Given the description of an element on the screen output the (x, y) to click on. 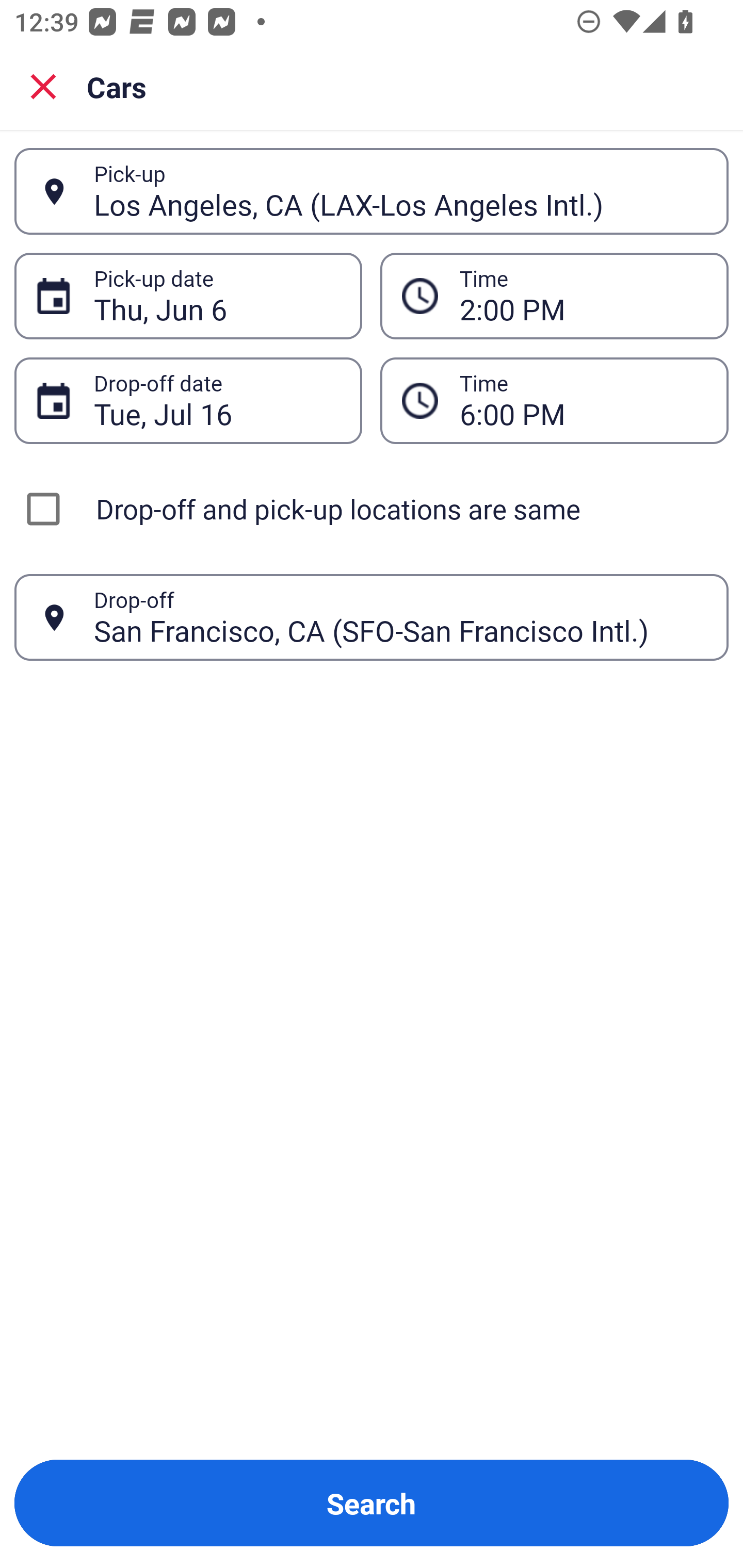
Close search screen (43, 86)
Los Angeles, CA (LAX-Los Angeles Intl.) Pick-up (371, 191)
Los Angeles, CA (LAX-Los Angeles Intl.) (399, 191)
Thu, Jun 6 Pick-up date (188, 295)
2:00 PM (554, 295)
Thu, Jun 6 (216, 296)
2:00 PM (582, 296)
Tue, Jul 16 Drop-off date (188, 400)
6:00 PM (554, 400)
Tue, Jul 16 (216, 400)
6:00 PM (582, 400)
Drop-off and pick-up locations are same (371, 508)
San Francisco, CA (SFO-San Francisco Intl.) (399, 616)
Search Button Search (371, 1502)
